Given the description of an element on the screen output the (x, y) to click on. 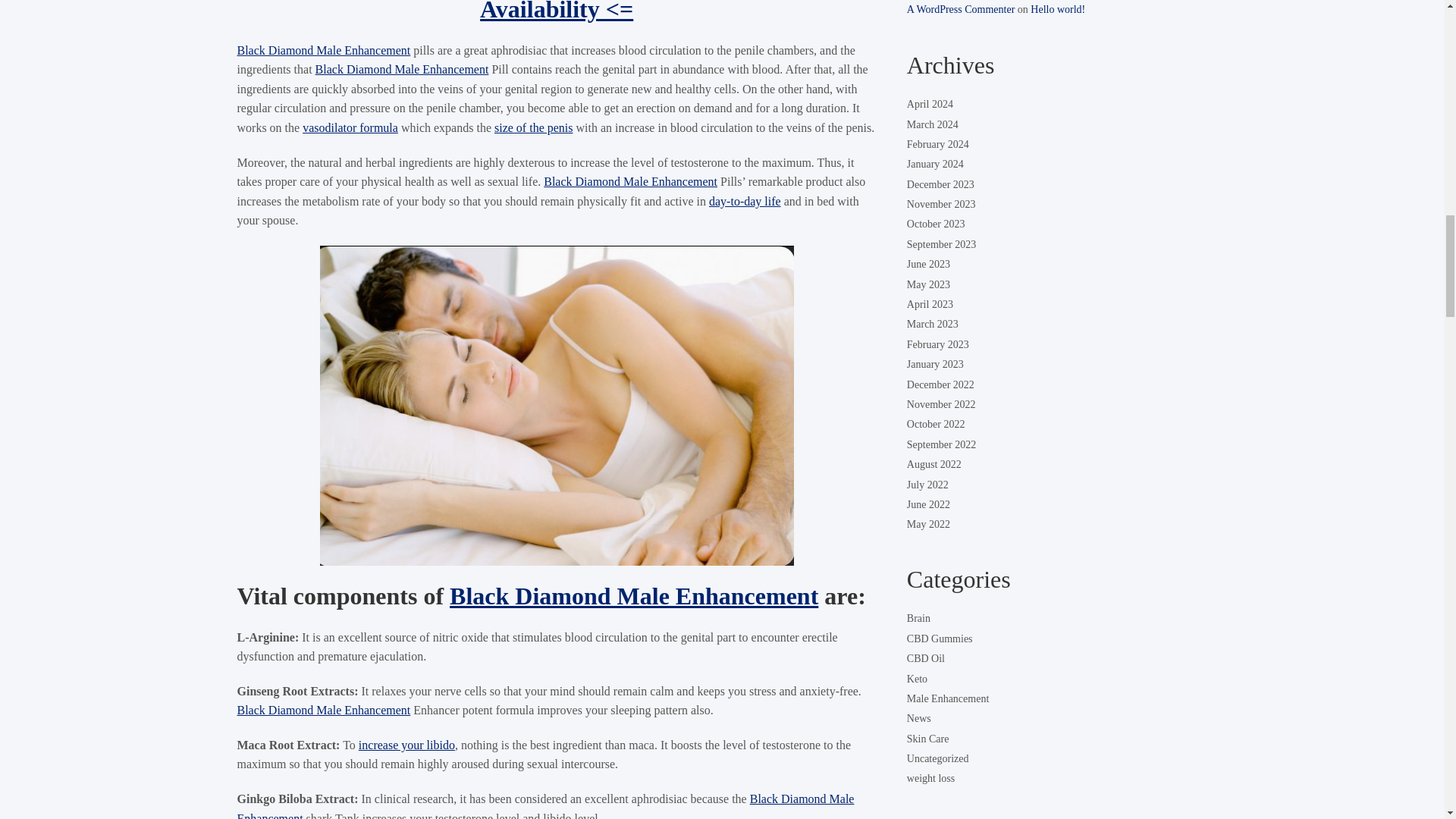
Black Diamond Male Enhancement (322, 50)
size of the penis (534, 127)
Black Diamond Male Enhancement (544, 805)
Black Diamond Male Enhancement (322, 709)
day-to-day life (744, 201)
vasodilator formula (349, 127)
Black Diamond Male Enhancement (402, 69)
Black Diamond Male Enhancement (630, 181)
Black Diamond Male Enhancement (633, 595)
increase your libido (406, 744)
